Given the description of an element on the screen output the (x, y) to click on. 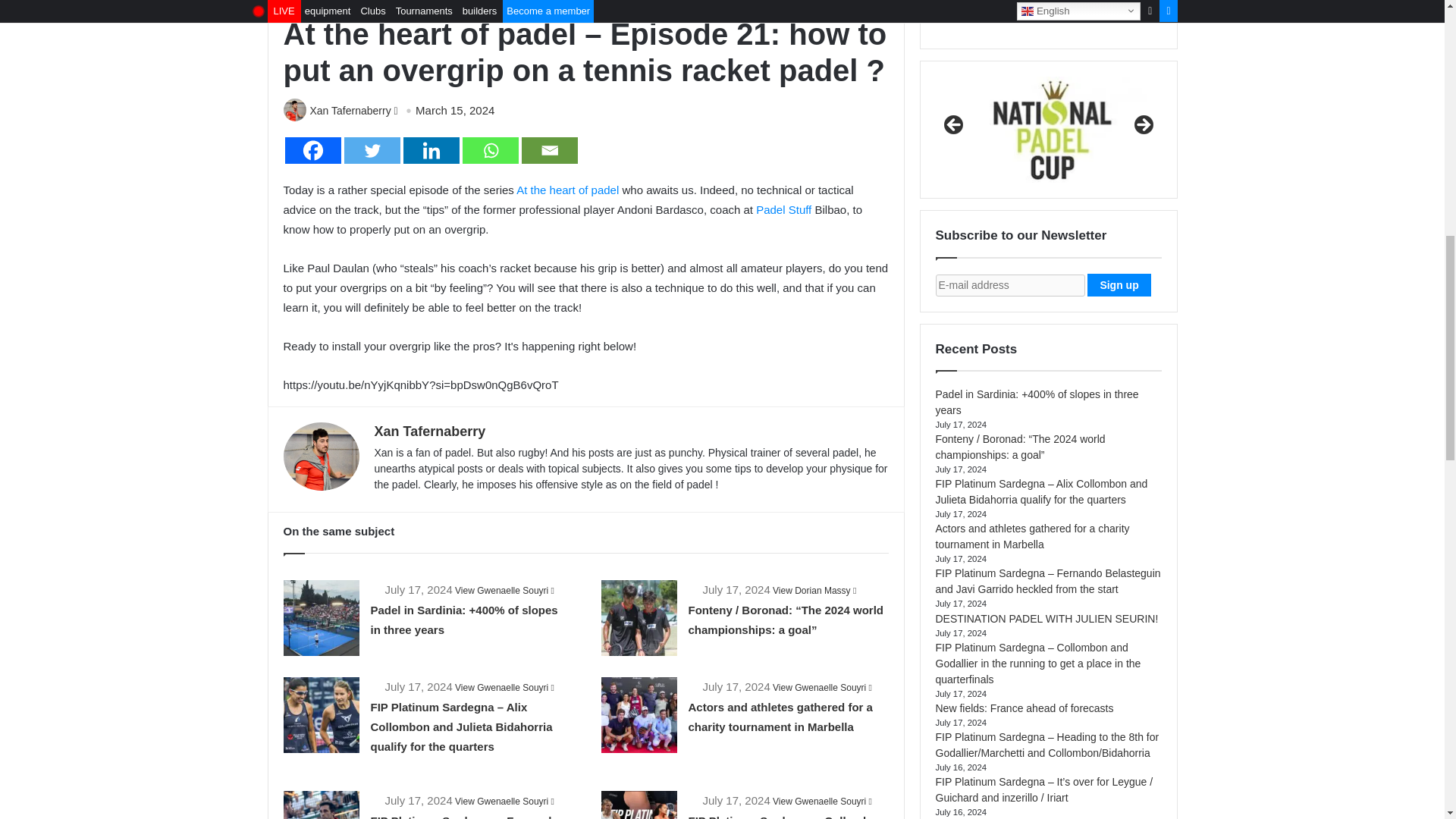
Sign up (1118, 284)
